Given the description of an element on the screen output the (x, y) to click on. 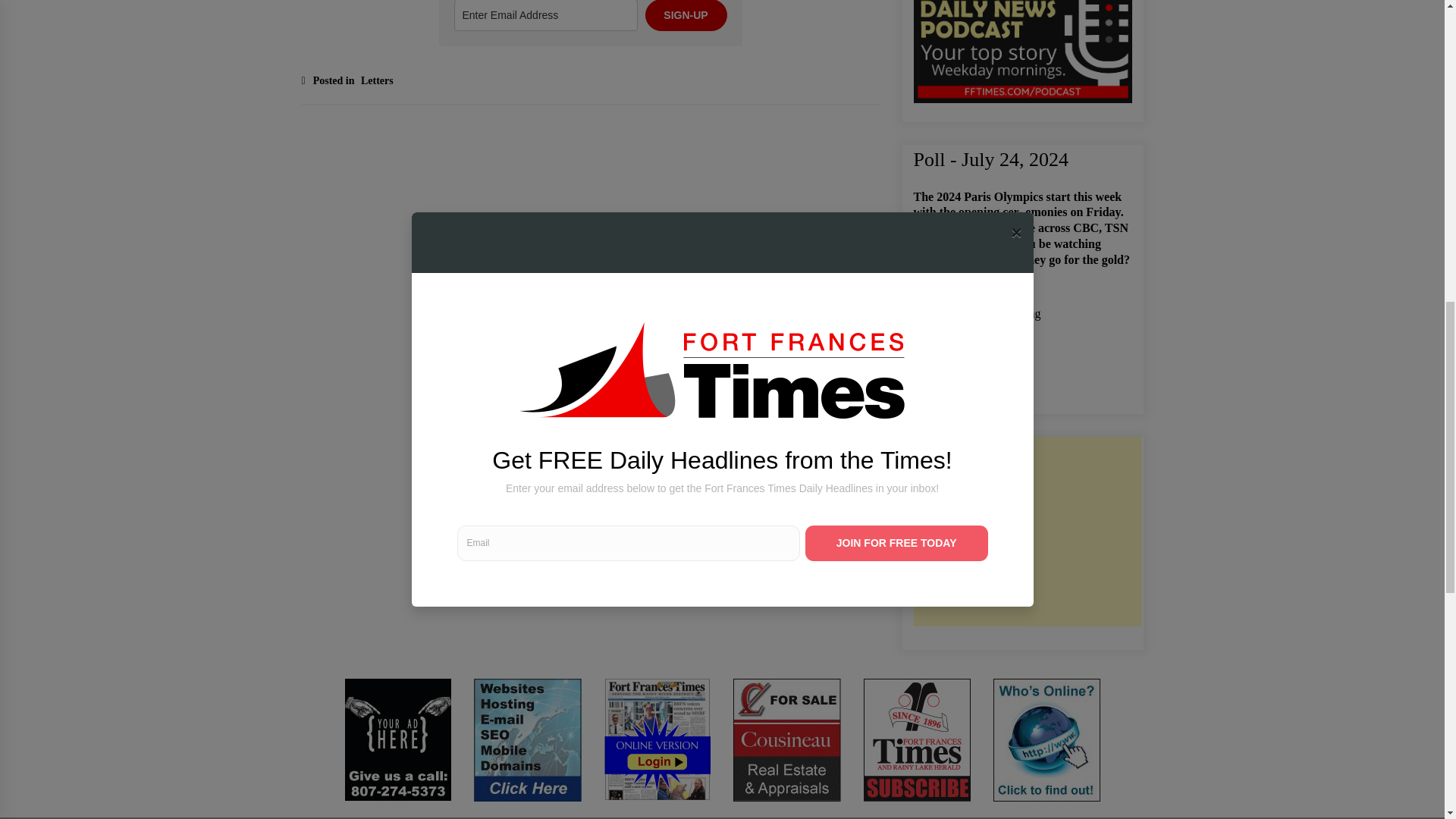
I'll be watching (920, 292)
Sports aren't my thing (920, 312)
Advertisement (1026, 531)
I have more to say (920, 331)
